Given the description of an element on the screen output the (x, y) to click on. 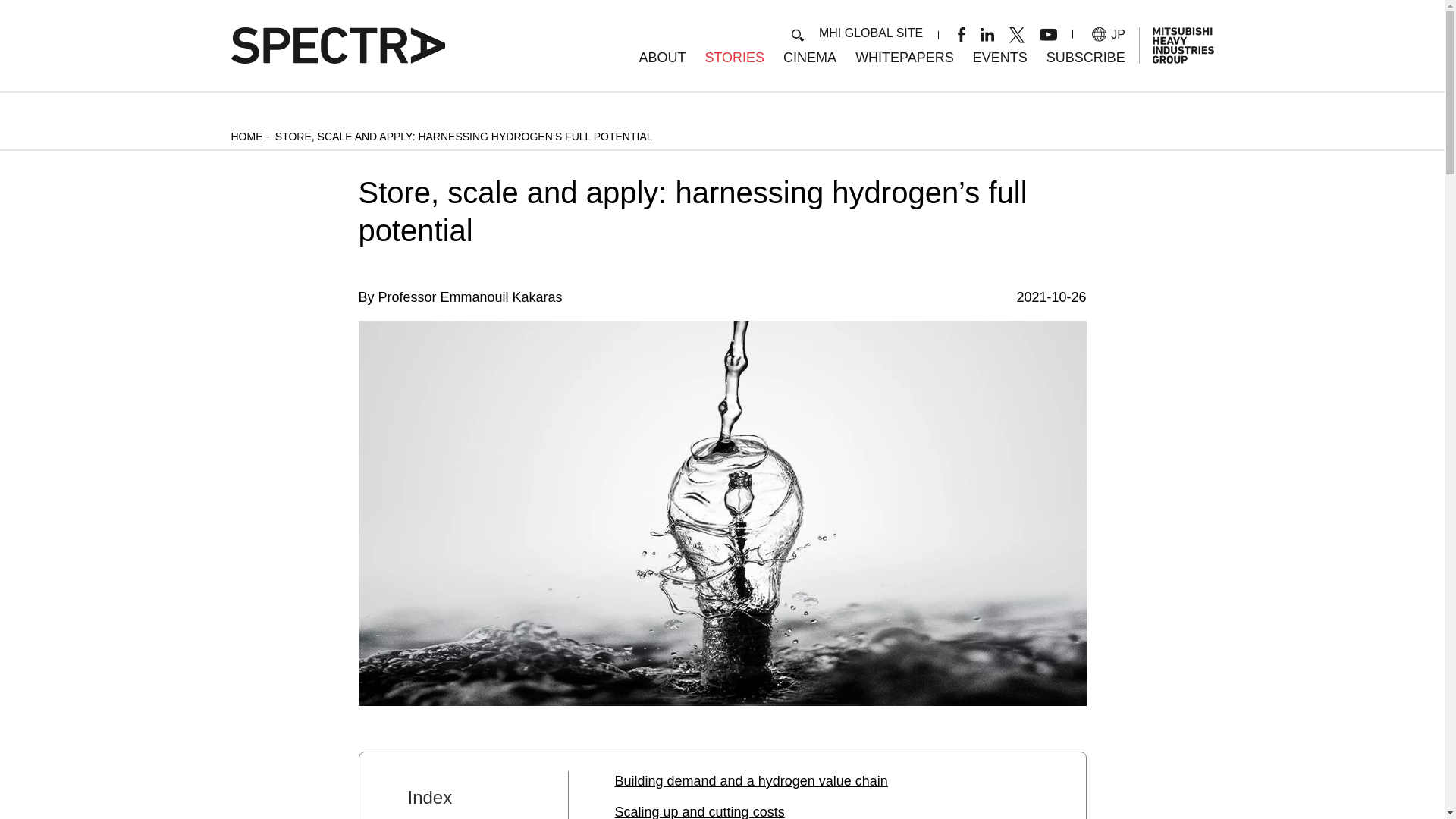
CINEMA (809, 57)
MHI Group at COP28 (999, 57)
STORIES (734, 57)
HOME (246, 136)
ABOUT (662, 57)
JP (1108, 34)
WHITEPAPERS (904, 57)
EVENTS (999, 57)
SUBSCRIBE (1085, 57)
MHI GLOBAL SITE (870, 32)
